Given the description of an element on the screen output the (x, y) to click on. 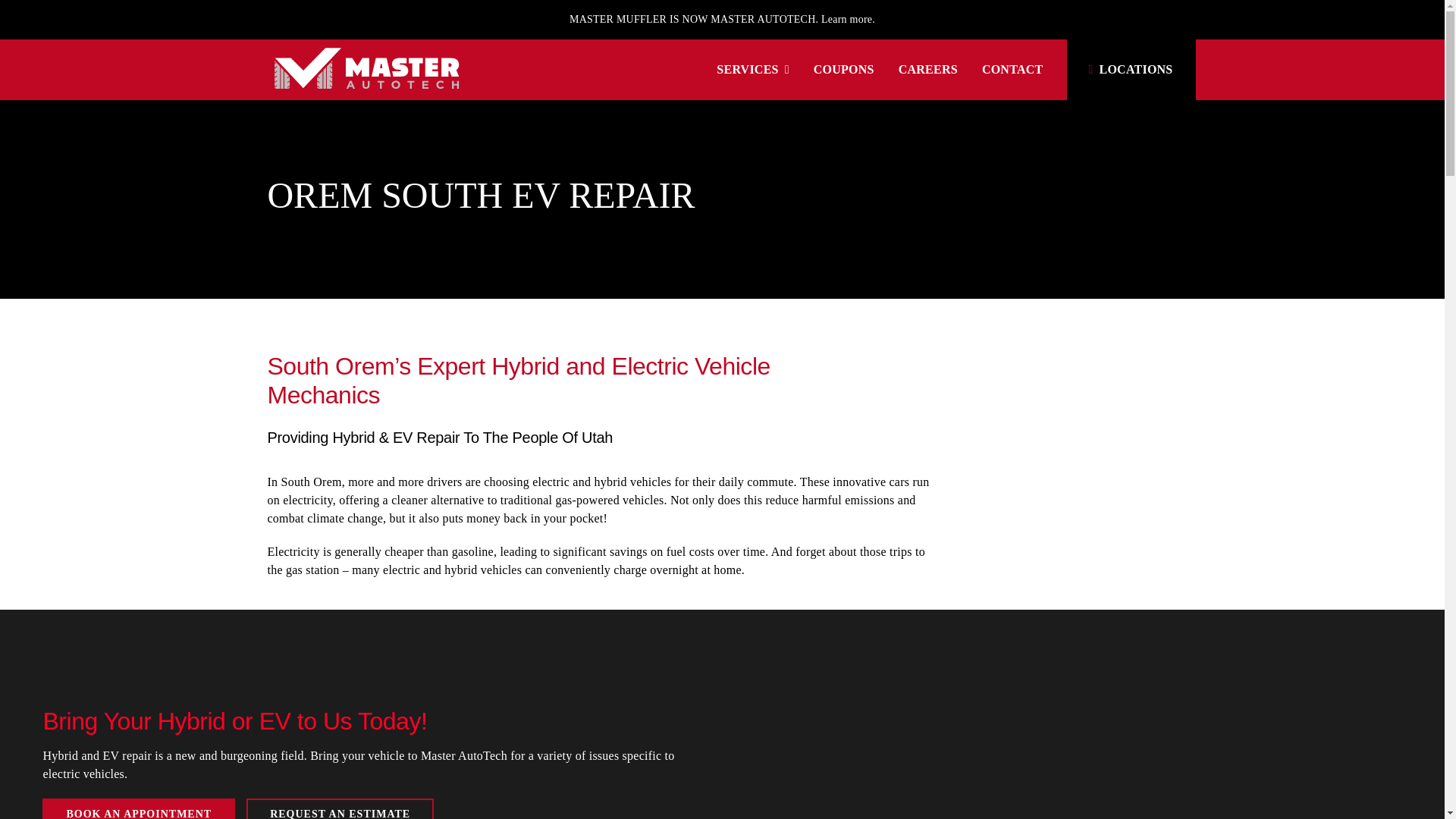
LOCATIONS (1126, 69)
MASTER MUFFLER IS NOW MASTER AUTOTECH. Learn more. (721, 19)
SERVICES (752, 69)
CONTACT (1012, 69)
See Locations Near You (1126, 69)
CAREERS (928, 69)
COUPONS (844, 69)
